Given the description of an element on the screen output the (x, y) to click on. 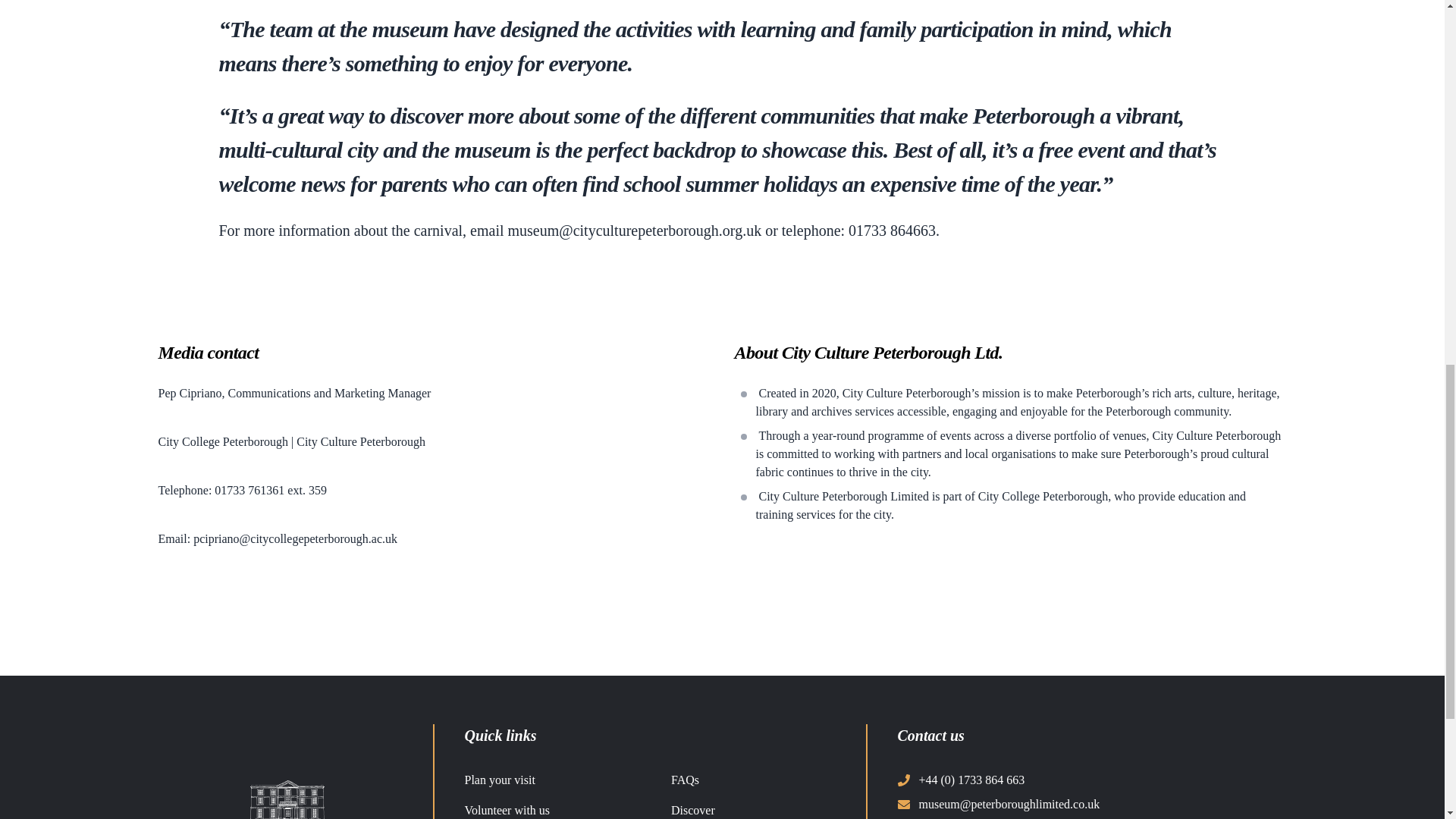
Discover (692, 809)
FAQs (684, 779)
Plan your visit (499, 779)
Volunteer with us (507, 809)
